Given the description of an element on the screen output the (x, y) to click on. 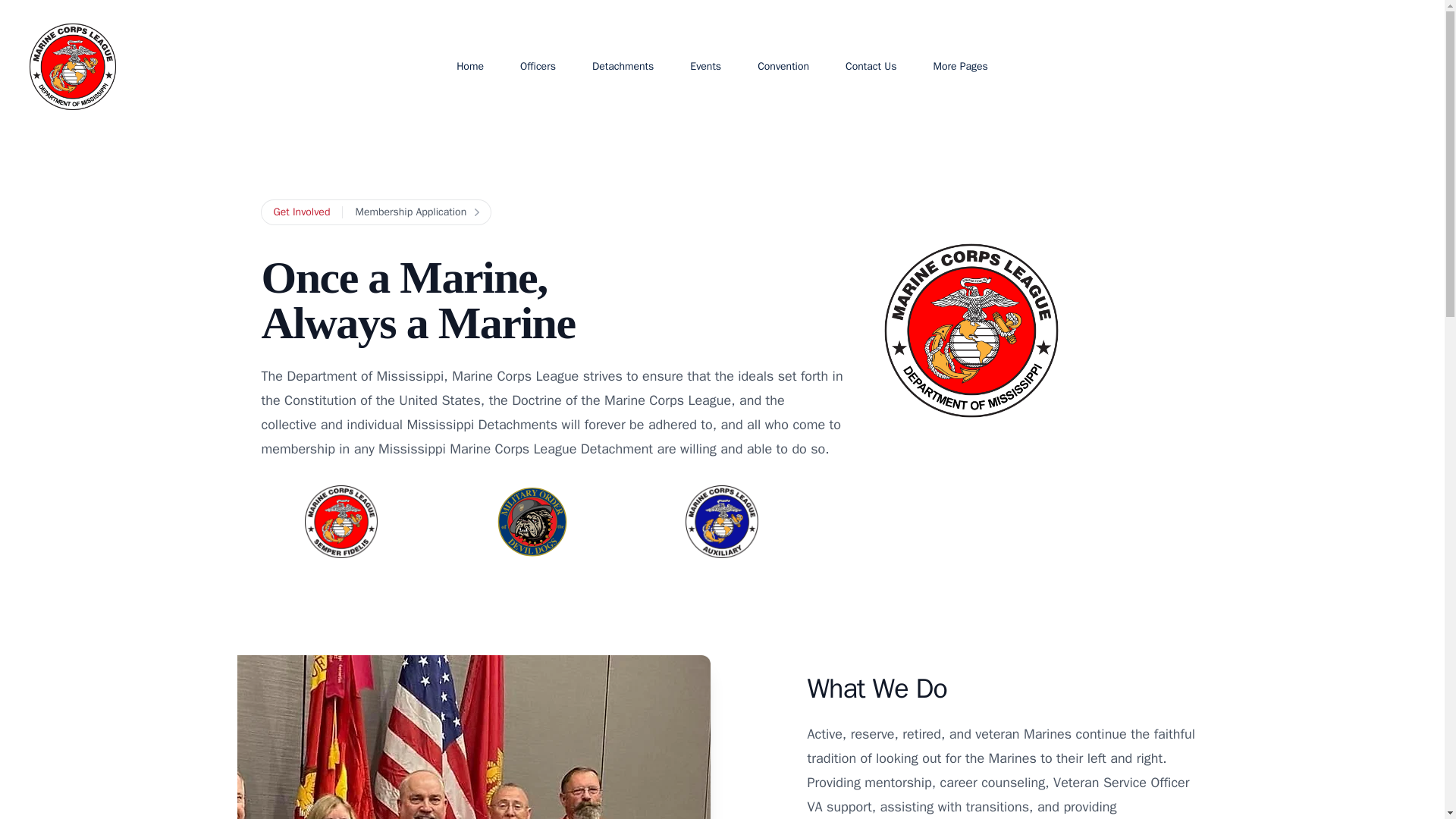
Contact Us (870, 66)
Membership Application (417, 212)
Home (470, 66)
Events (705, 66)
Detachments (622, 66)
Convention (783, 66)
Department of Mississippi - Marine Corps League (72, 66)
Officers (537, 66)
